Given the description of an element on the screen output the (x, y) to click on. 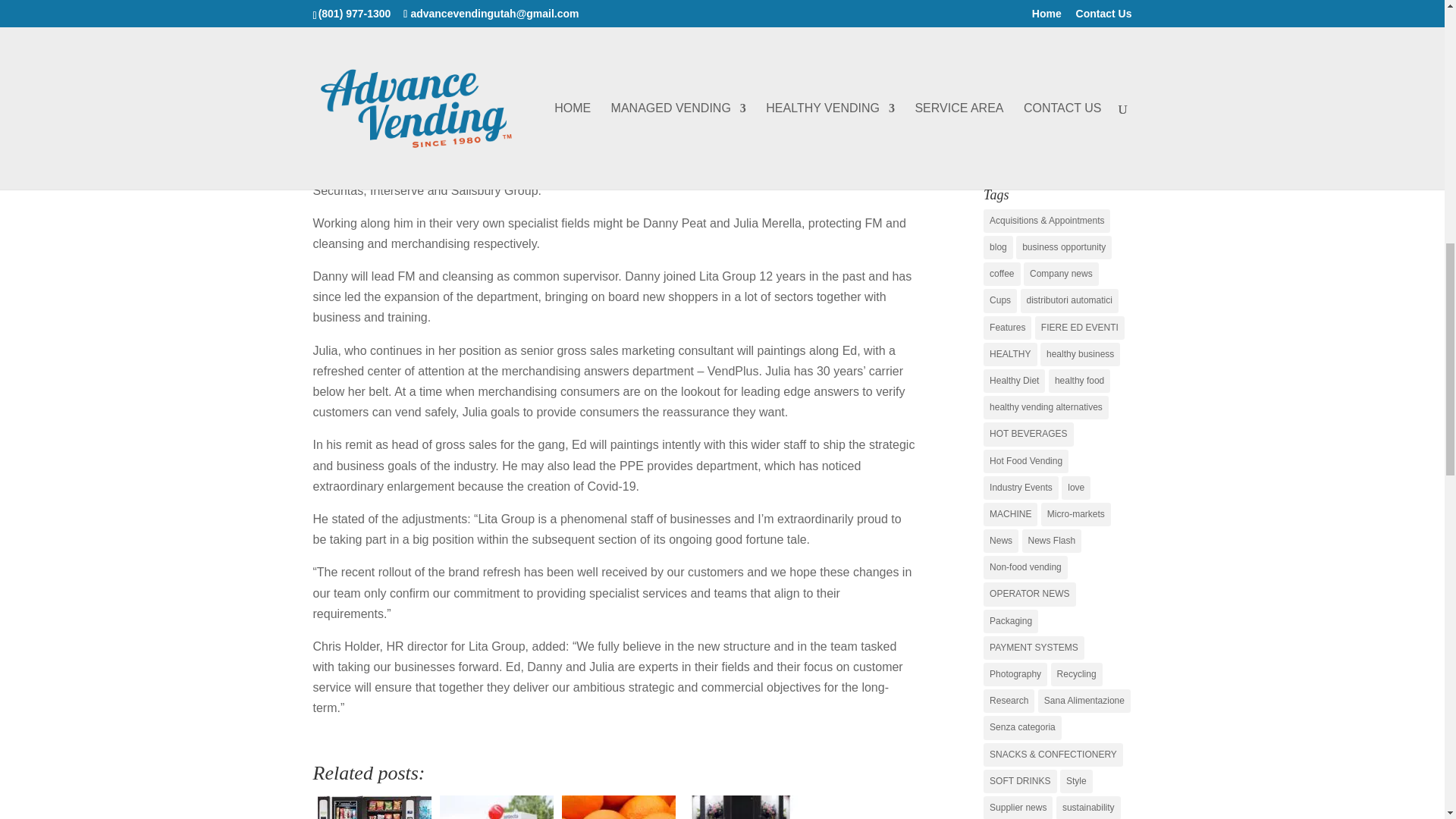
Say it with flora in any respect hours (740, 805)
Update on Single Use Cup levies (496, 805)
